Given the description of an element on the screen output the (x, y) to click on. 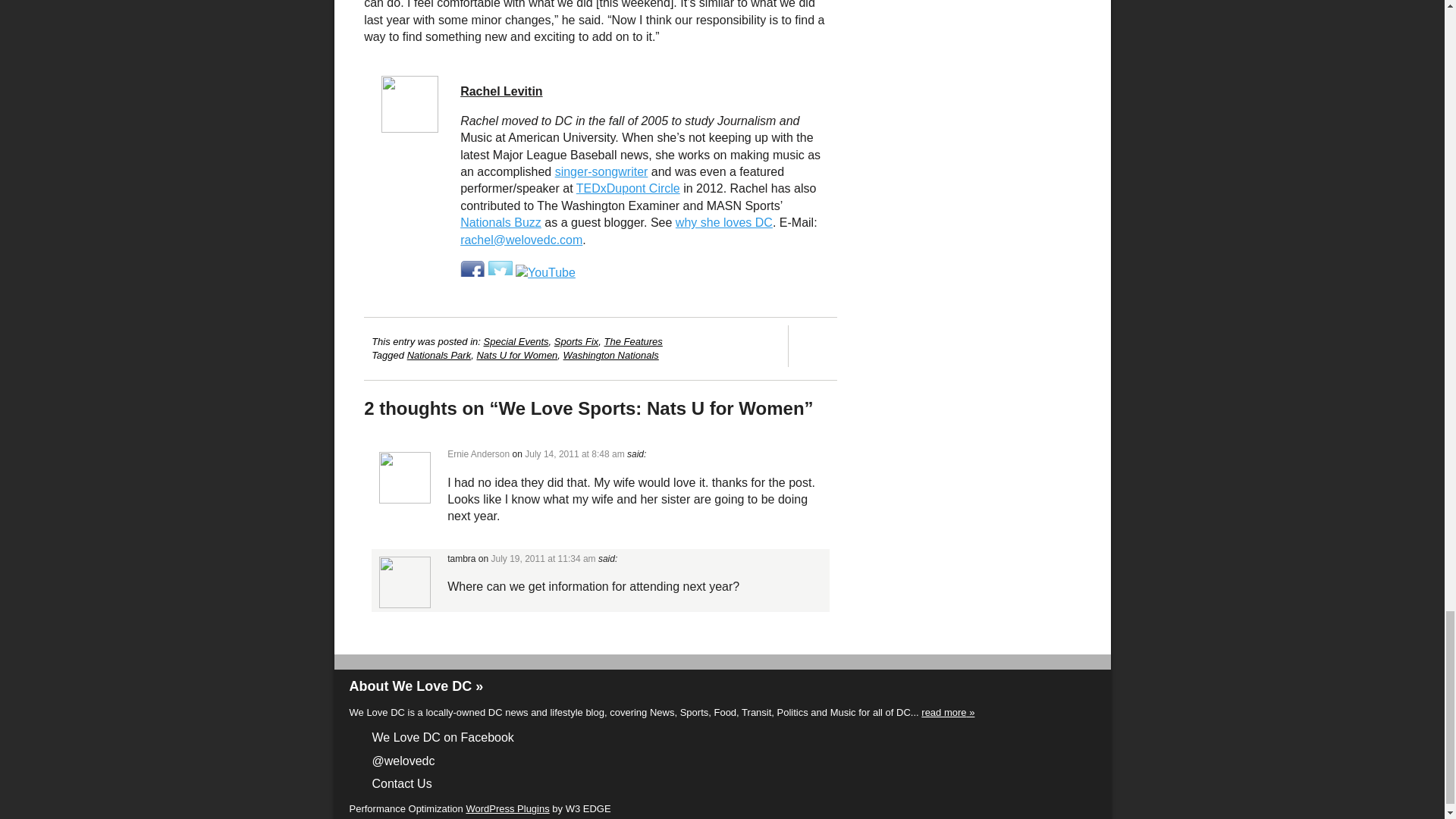
why she loves DC (724, 222)
Nats U for Women (516, 355)
Twitter (499, 273)
YouTube (545, 272)
July 14, 2011 at 8:48 am (574, 453)
TEDxDupont Circle (627, 187)
July 19, 2011 at 11:34 am (543, 558)
Rachel Levitin (500, 91)
Facebook (472, 273)
Ernie Anderson (477, 453)
